Given the description of an element on the screen output the (x, y) to click on. 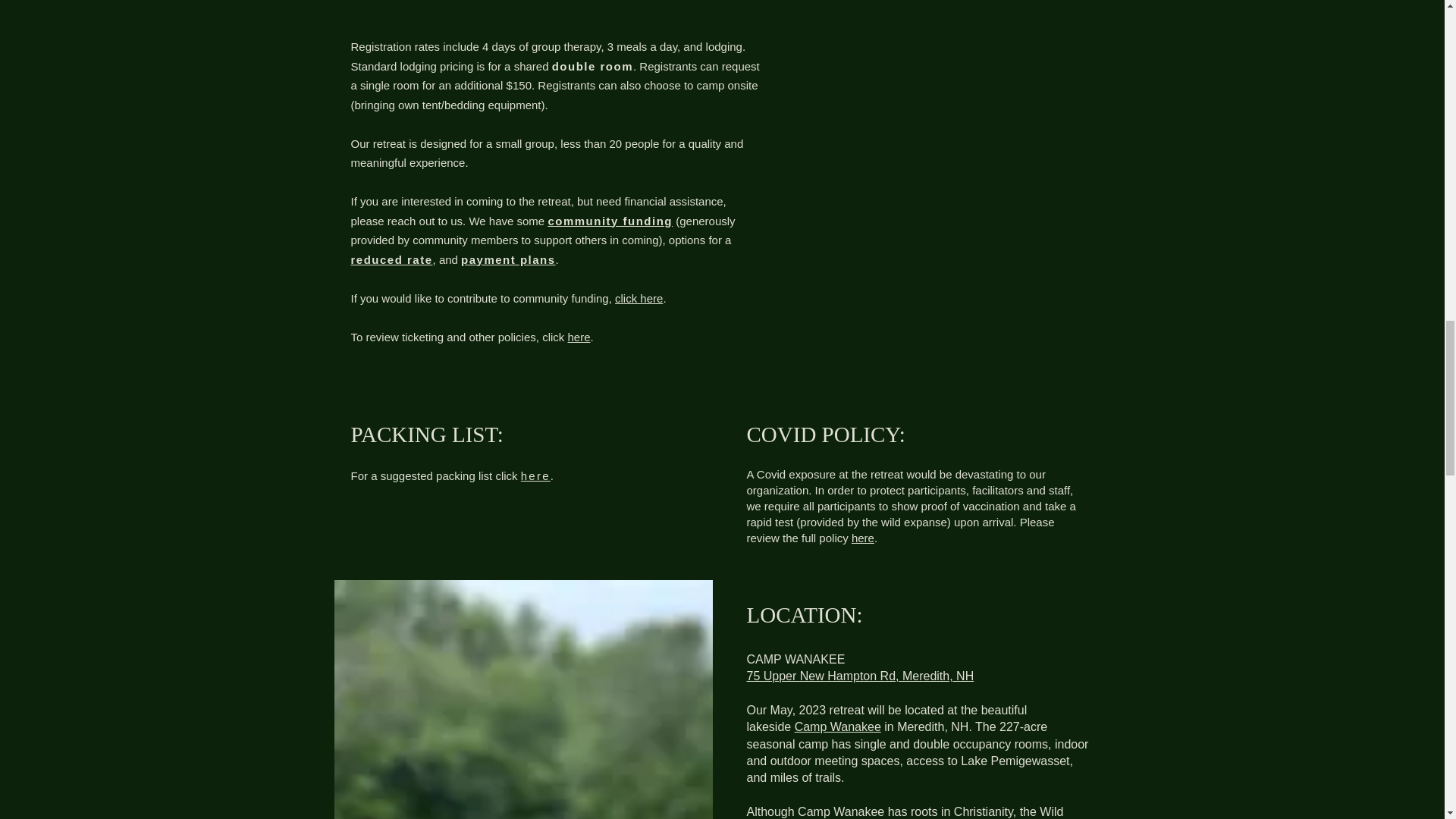
here (578, 336)
here (535, 475)
here (863, 537)
click here (638, 297)
